Given the description of an element on the screen output the (x, y) to click on. 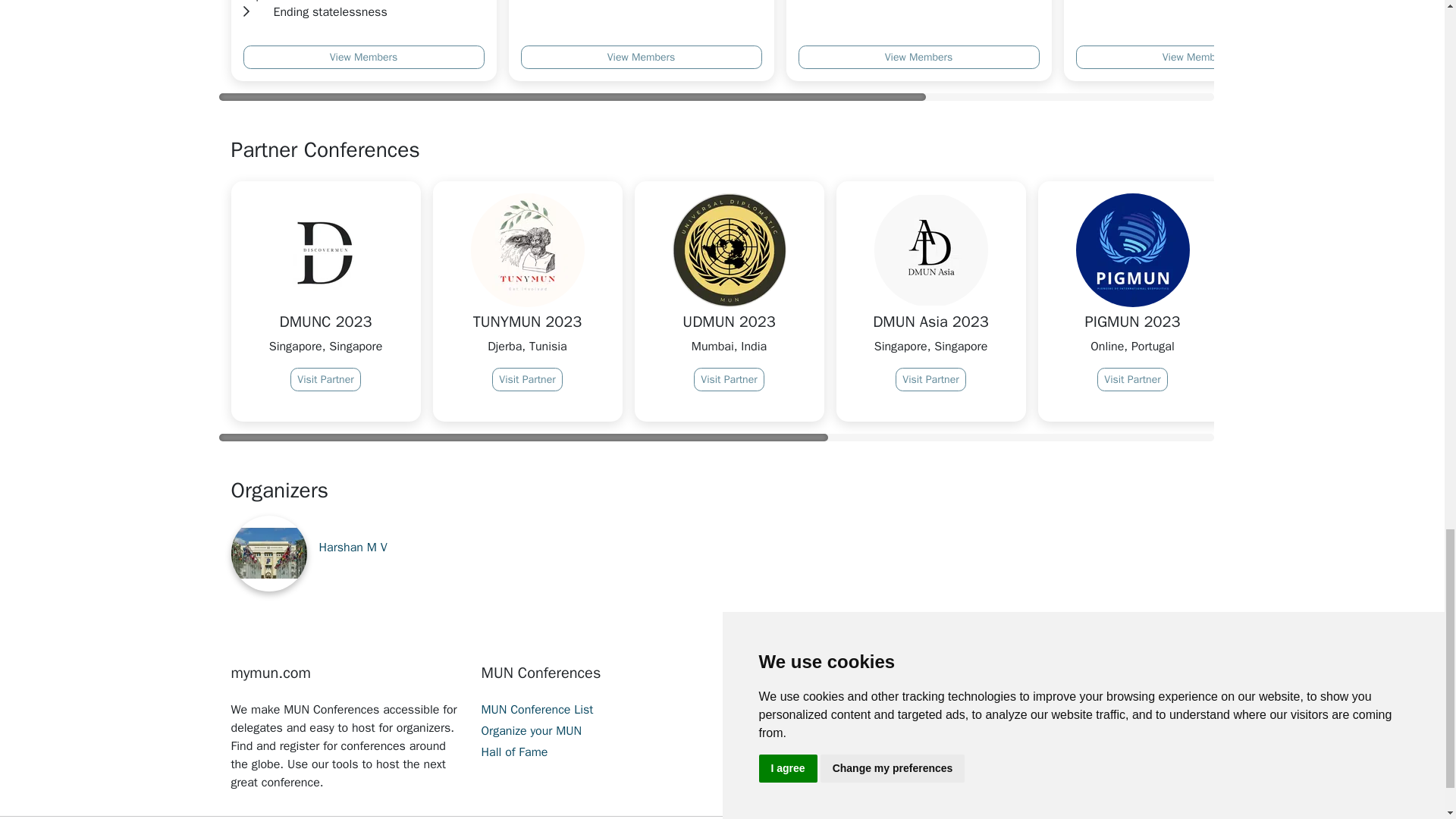
Visit Partner (527, 379)
View Members (363, 56)
Visit Partner (1333, 397)
Visit Partner (324, 379)
View Members (1195, 56)
View Members (918, 56)
Visit Partner (930, 379)
Visit Partner (1132, 379)
View Members (640, 56)
Harshan M V (352, 547)
Visit Partner (728, 379)
